Given the description of an element on the screen output the (x, y) to click on. 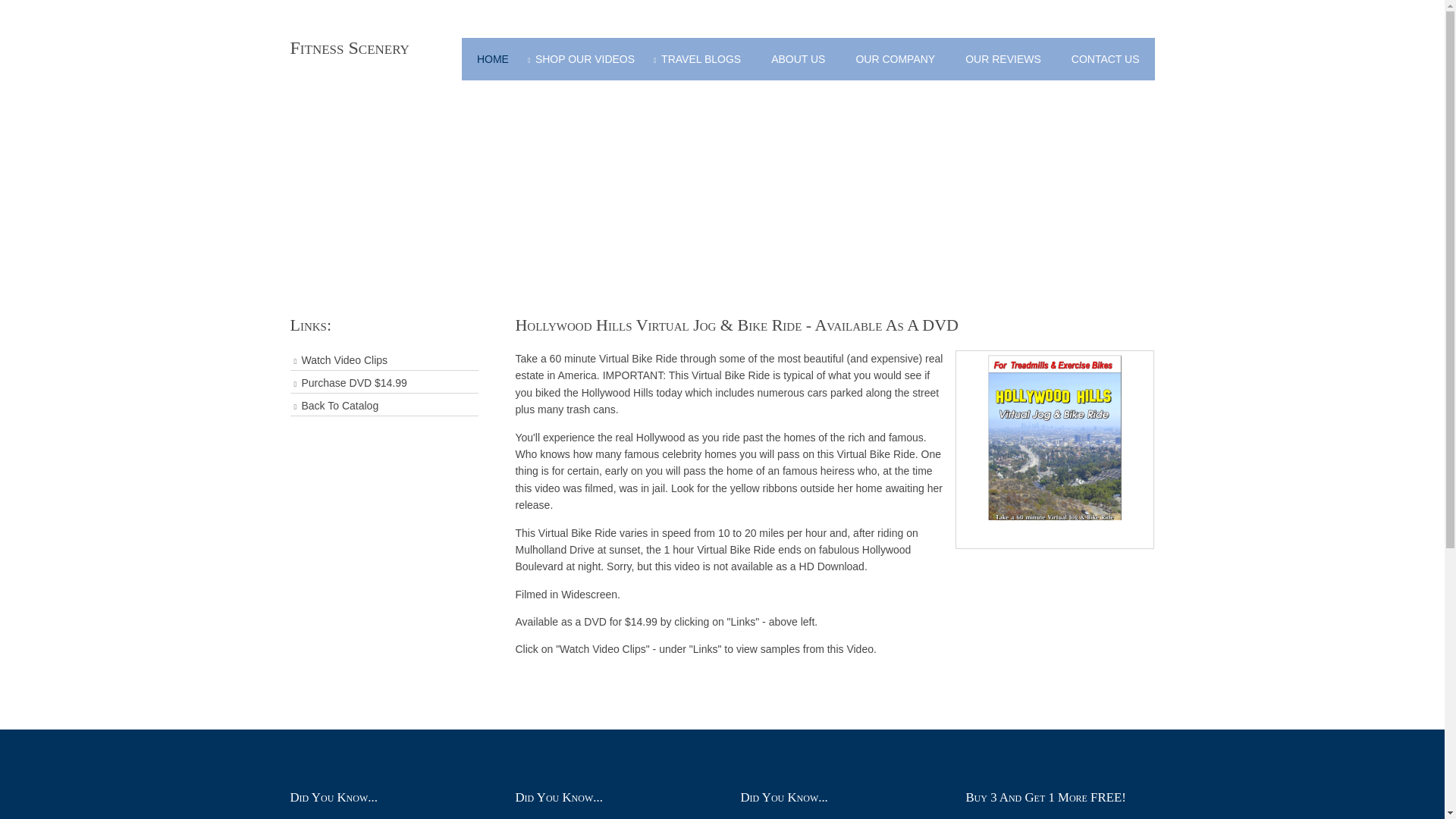
HOME (492, 58)
SHOP OUR VIDEOS (586, 58)
TRAVEL BLOGS (702, 58)
CONTACT US (1105, 58)
OUR REVIEWS (1003, 58)
ABOUT US (797, 58)
Fitness Scenery (349, 47)
Back To Catalog (384, 405)
Watch Video Clips (384, 360)
OUR COMPANY (895, 58)
